Given the description of an element on the screen output the (x, y) to click on. 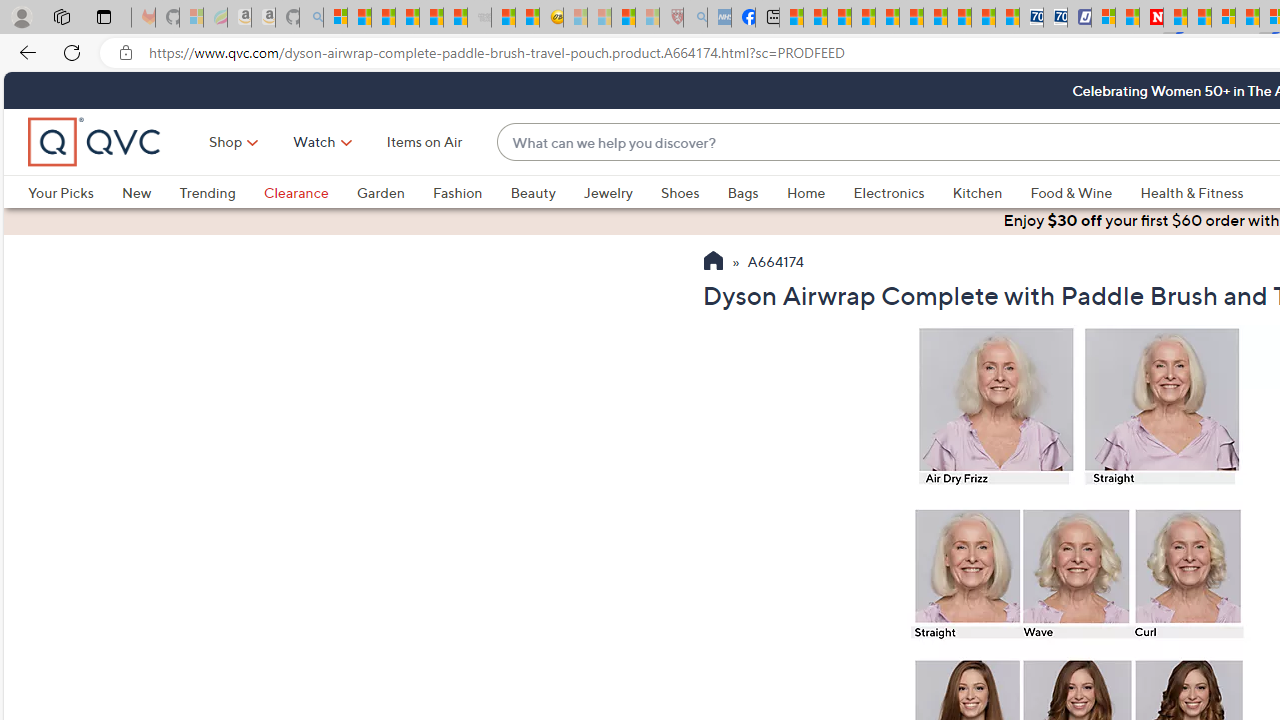
Items on Air (424, 141)
Kitchen (977, 192)
